Given the description of an element on the screen output the (x, y) to click on. 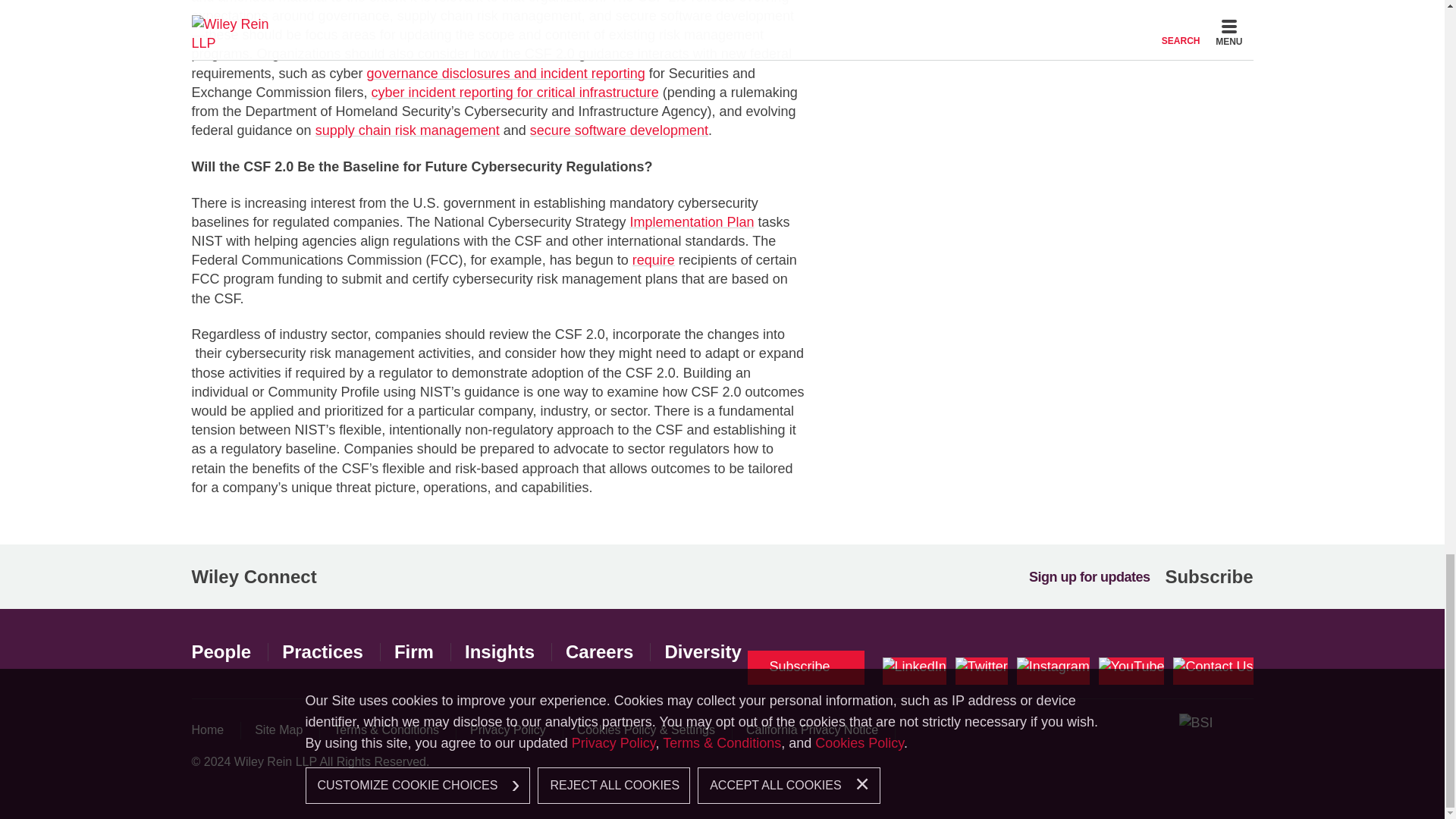
Contact Us (1212, 670)
